Given the description of an element on the screen output the (x, y) to click on. 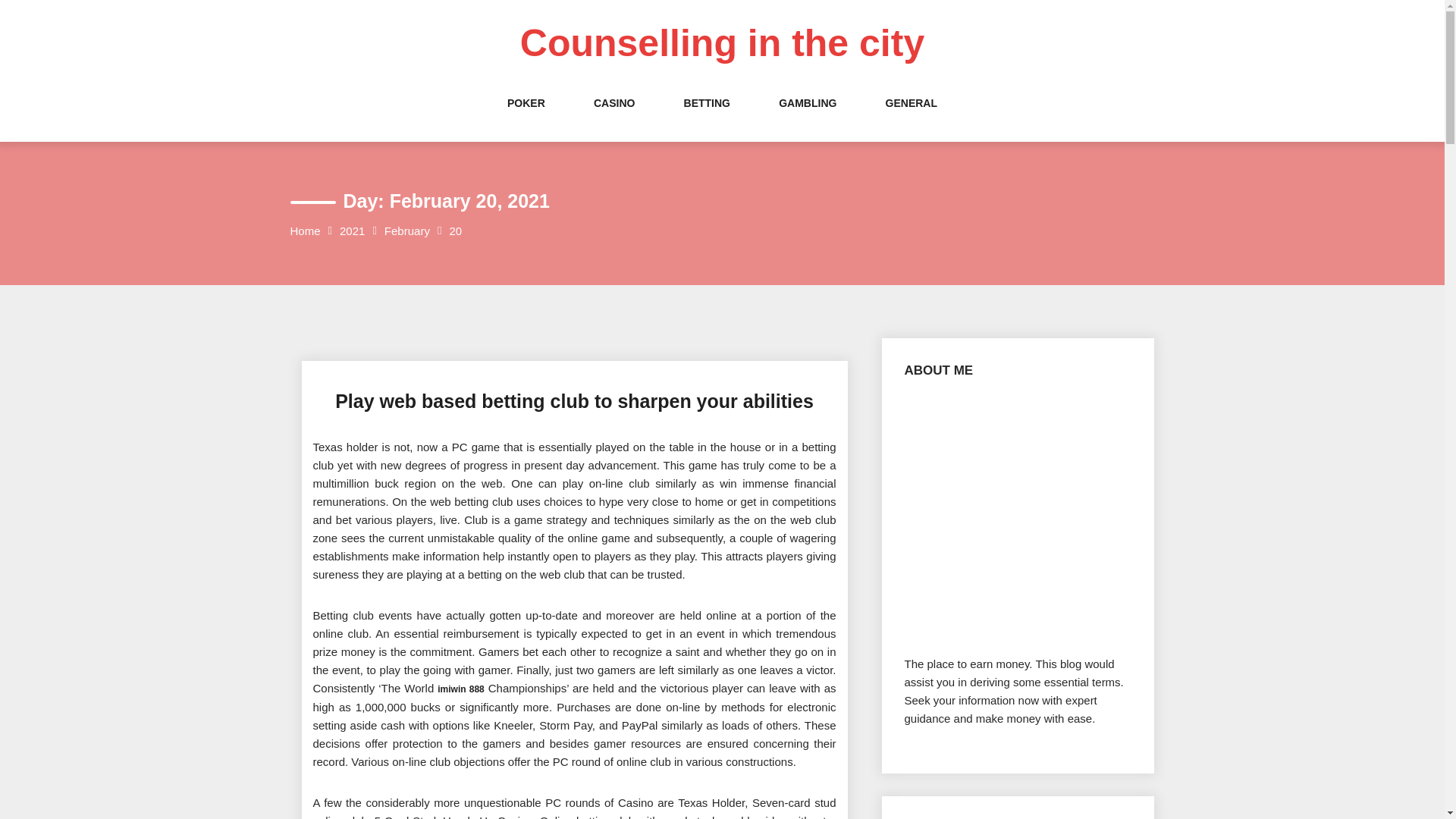
GENERAL (911, 118)
Counselling in the city (721, 43)
February (406, 230)
imiwin 888 (461, 687)
2021 (352, 230)
CASINO (614, 118)
Play web based betting club to sharpen your abilities (573, 400)
BETTING (707, 118)
GAMBLING (806, 118)
Home (304, 230)
